Given the description of an element on the screen output the (x, y) to click on. 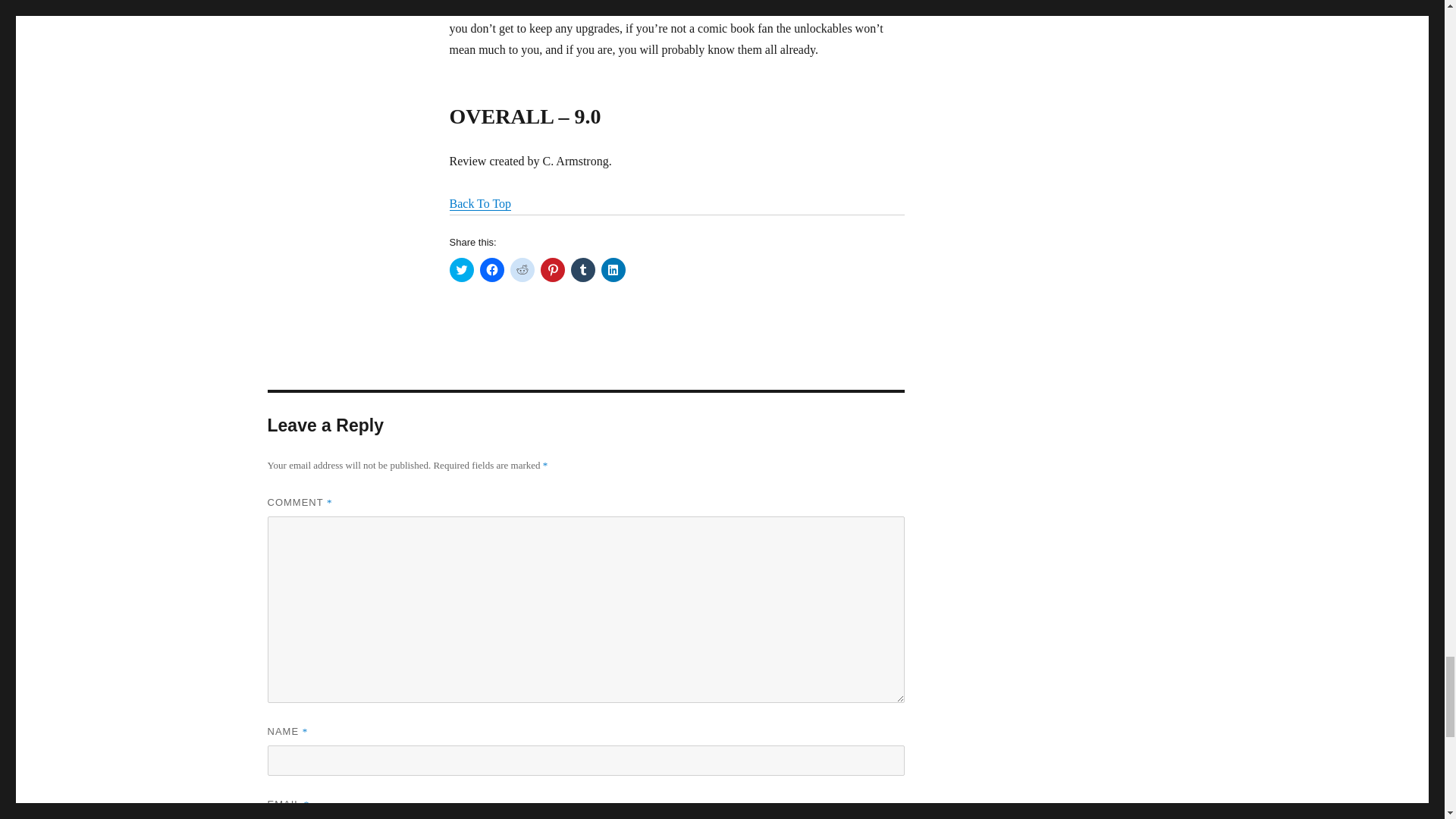
Click to share on LinkedIn (611, 269)
Click to share on Twitter (460, 269)
Click to share on Tumblr (582, 269)
Click to share on Reddit (521, 269)
Click to share on Facebook (491, 269)
Back To Top (479, 203)
Click to share on Pinterest (552, 269)
